Given the description of an element on the screen output the (x, y) to click on. 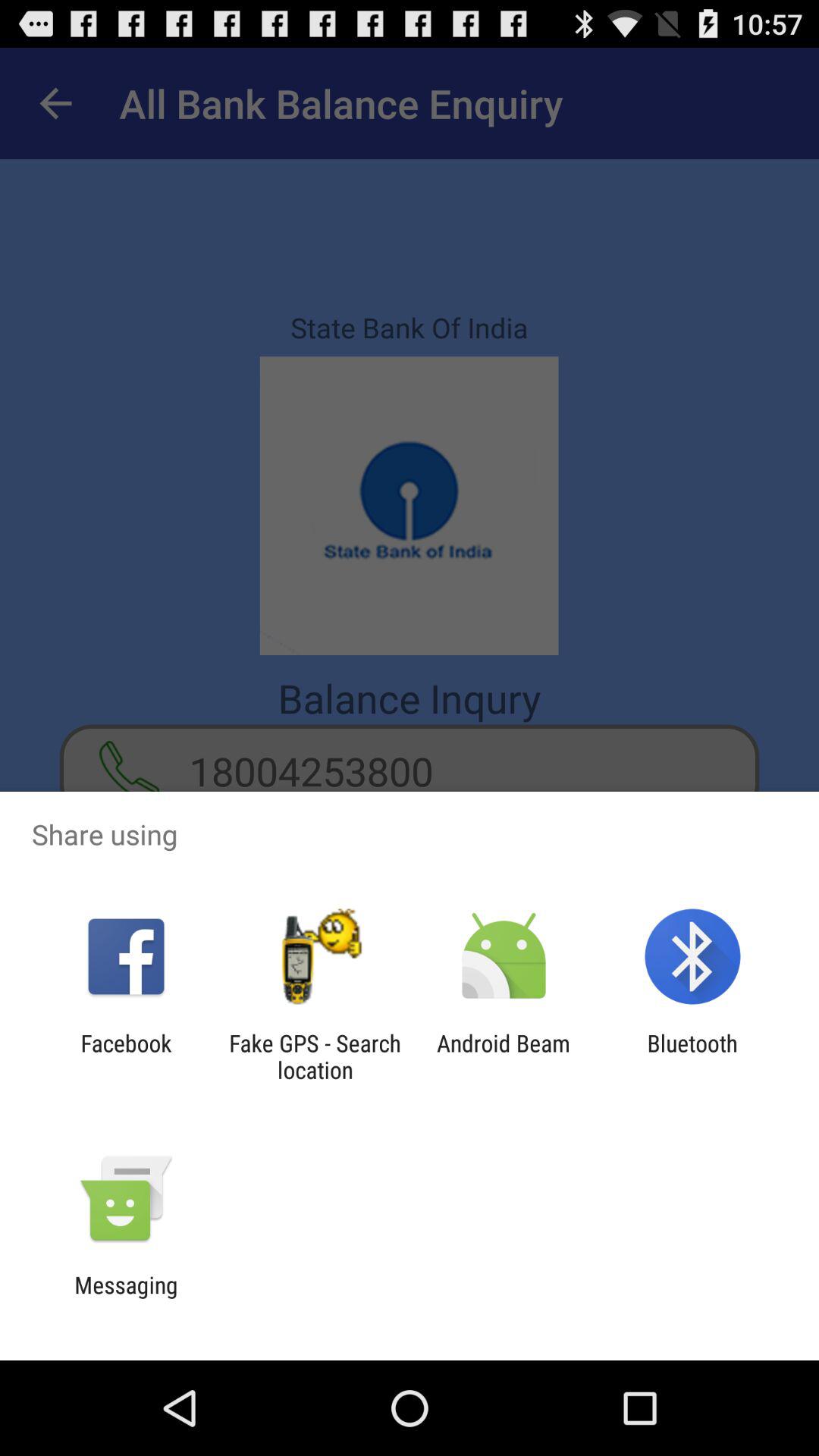
scroll until android beam (503, 1056)
